Given the description of an element on the screen output the (x, y) to click on. 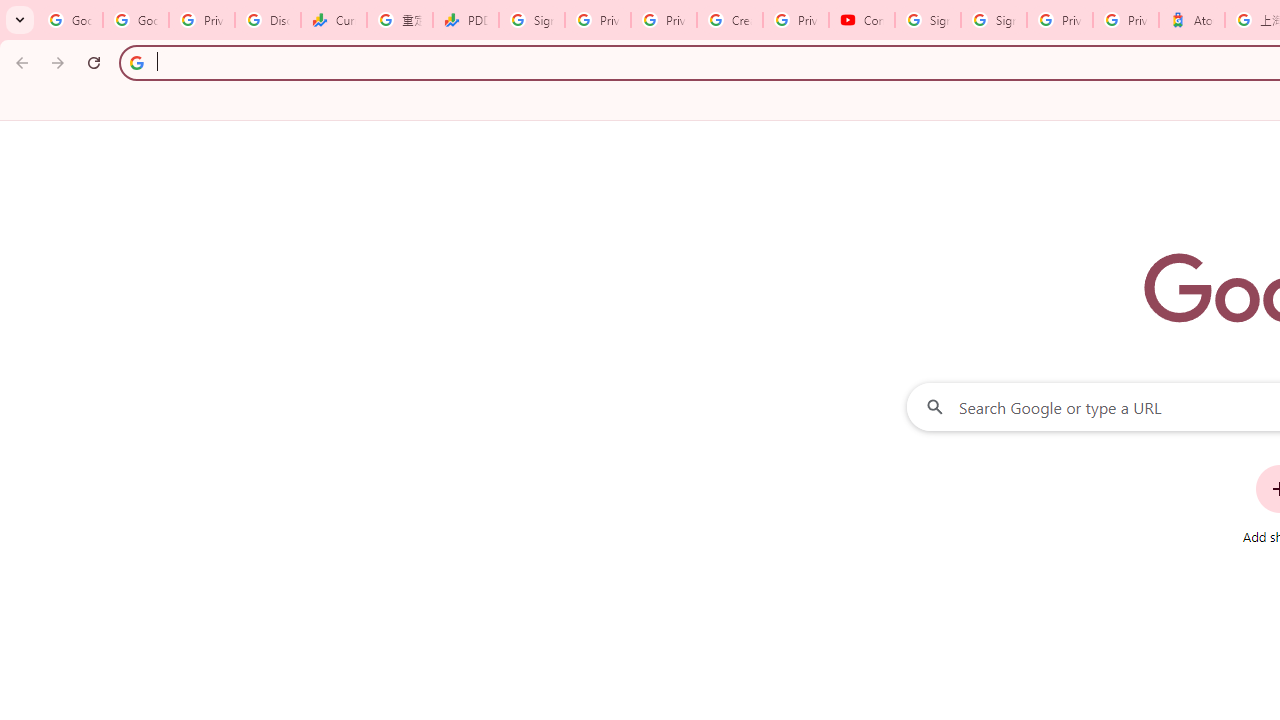
Currencies - Google Finance (333, 20)
Content Creator Programs & Opportunities - YouTube Creators (861, 20)
PDD Holdings Inc - ADR (PDD) Price & News - Google Finance (465, 20)
Sign in - Google Accounts (531, 20)
Sign in - Google Accounts (993, 20)
